Given the description of an element on the screen output the (x, y) to click on. 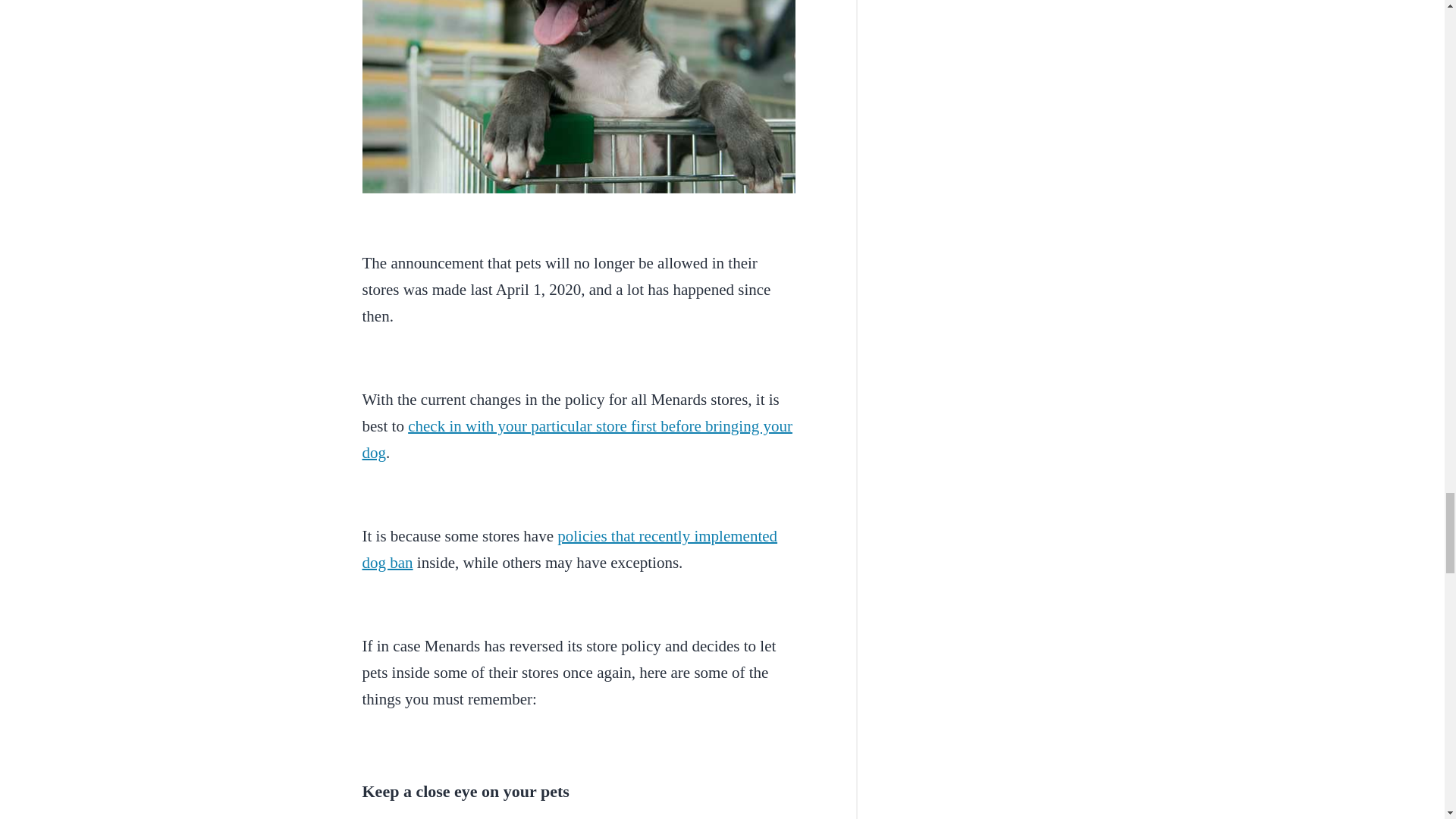
policies that recently implemented dog ban (569, 549)
